Given the description of an element on the screen output the (x, y) to click on. 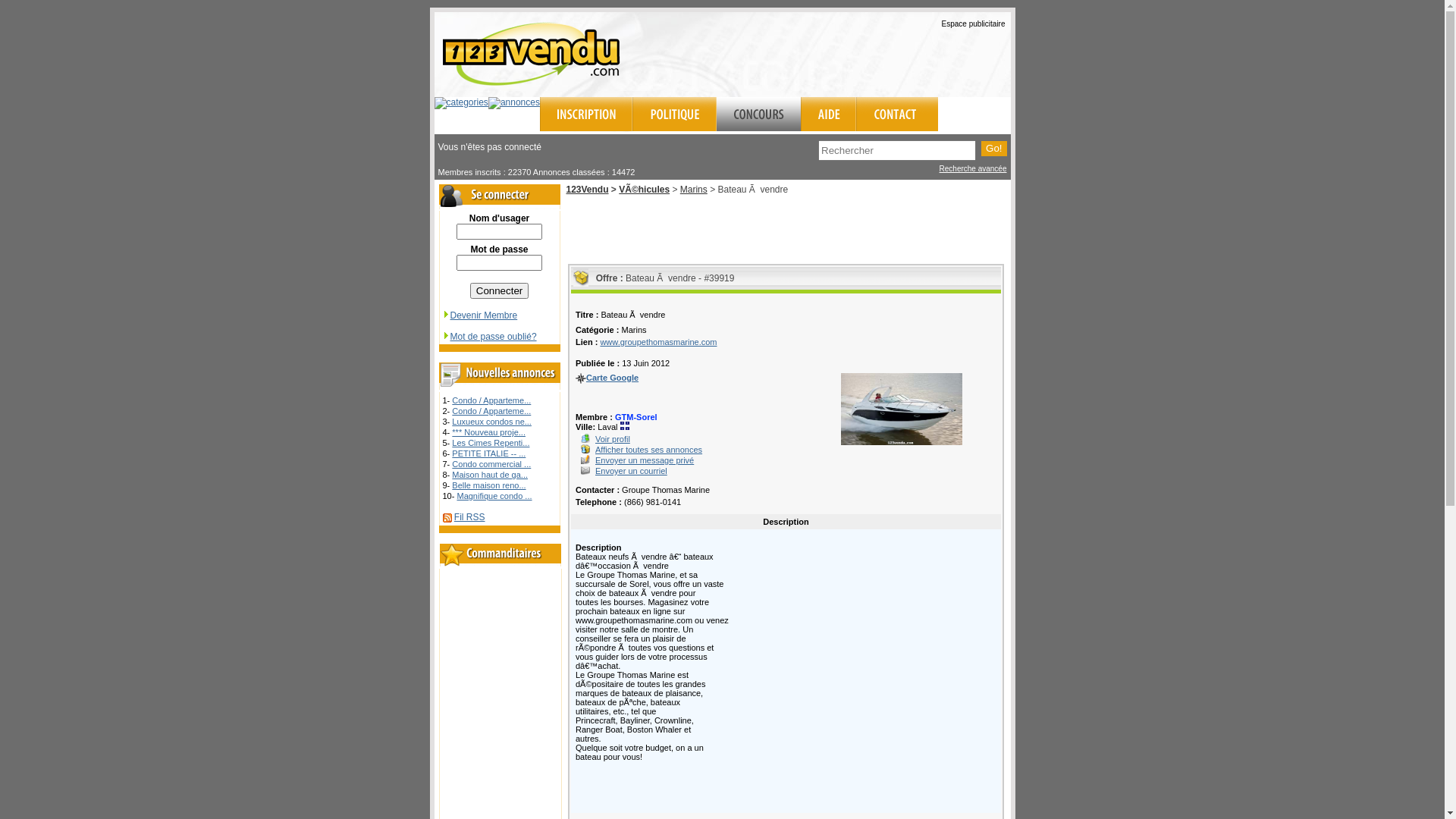
Magnifique condo ... Element type: text (493, 495)
Condo / Apparteme... Element type: text (490, 399)
Devenir Membre Element type: text (479, 315)
Advertisement Element type: hover (785, 228)
Carte Google Element type: text (612, 377)
Afficher toutes ses annonces Element type: text (648, 449)
Condo / Apparteme... Element type: text (490, 410)
Marins Element type: text (693, 189)
Connecter Element type: text (499, 290)
Luxueux condos ne... Element type: text (491, 421)
Les Cimes Repenti... Element type: text (490, 442)
123Vendu Element type: text (586, 189)
Condo commercial ... Element type: text (490, 463)
*** Nouveau proje... Element type: text (488, 431)
Voir profil Element type: text (612, 438)
Belle maison reno... Element type: text (488, 484)
Maison haut de ga... Element type: text (489, 474)
Fil RSS Element type: text (469, 516)
www.groupethomasmarine.com Element type: text (657, 341)
Go! Element type: text (993, 148)
Advertisement Element type: hover (832, 52)
PETITE ITALIE -- ... Element type: text (488, 453)
Envoyer un courriel Element type: text (631, 470)
